Given the description of an element on the screen output the (x, y) to click on. 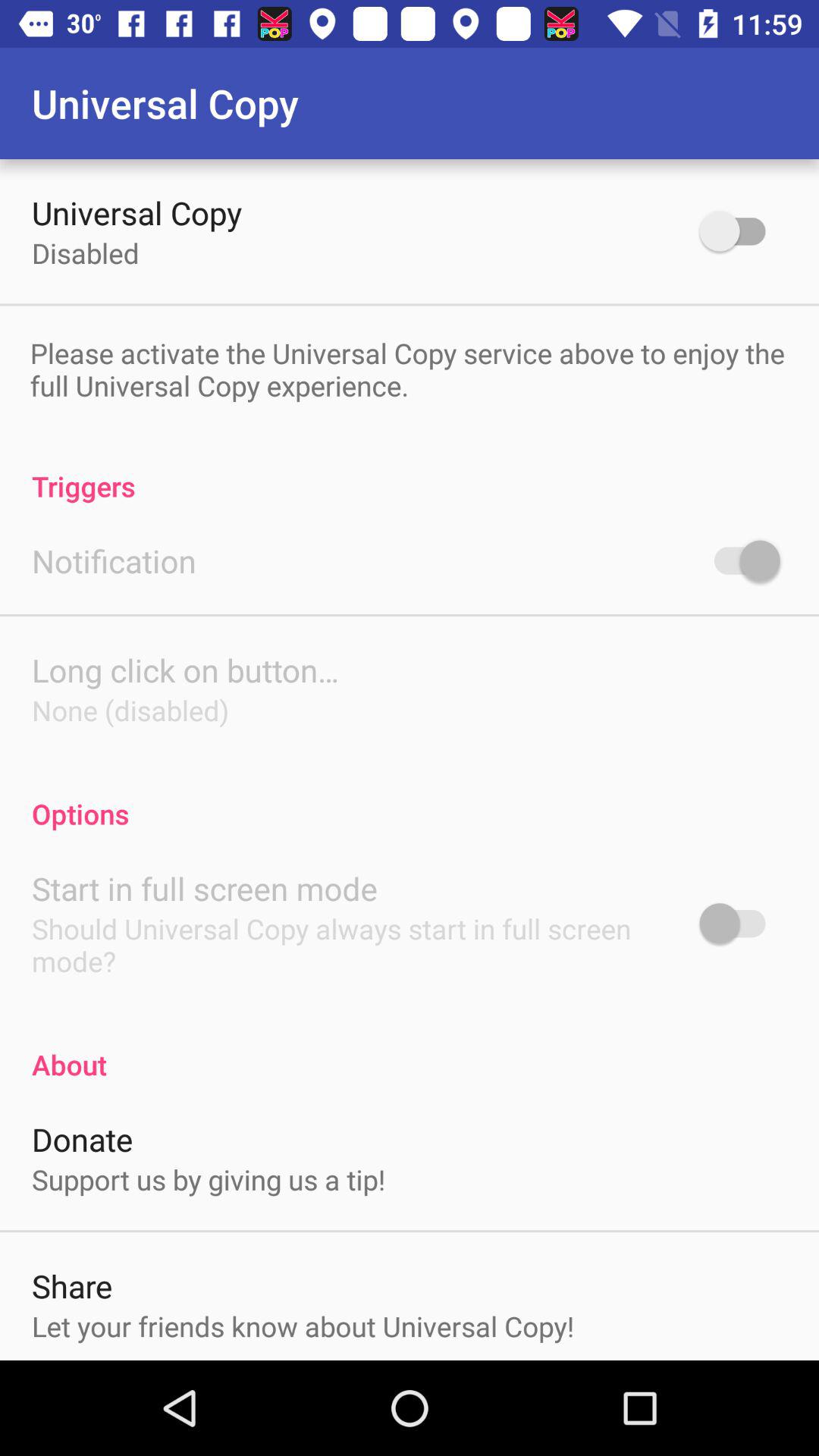
scroll until donate (82, 1138)
